Given the description of an element on the screen output the (x, y) to click on. 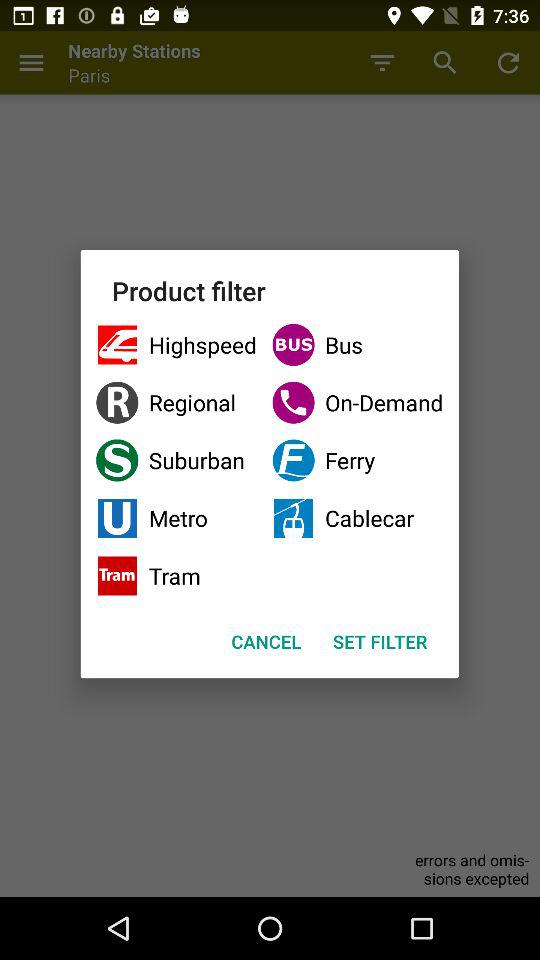
press checkbox above suburban (357, 402)
